Given the description of an element on the screen output the (x, y) to click on. 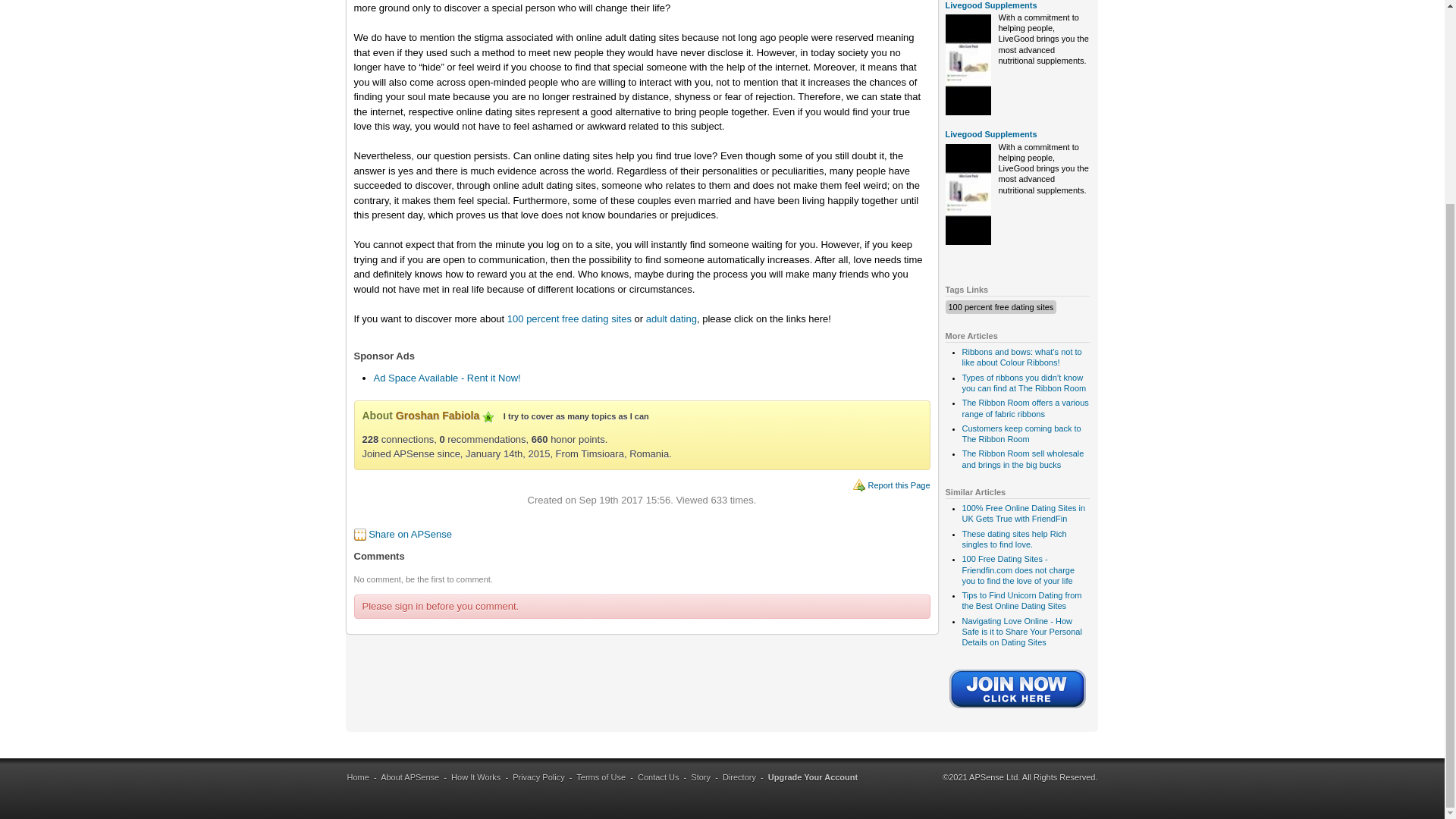
adult dating (671, 318)
Join APSense Social Network (1017, 709)
The Ribbon Room sell wholesale and brings in the big bucks (1021, 458)
These dating sites help Rich singles to find love. (1012, 538)
Ad Space Available - Rent it Now! (445, 378)
Groshan Fabiola (437, 415)
Livegood Supplements (990, 133)
100 percent free dating sites (999, 307)
Report this Page (898, 484)
